Given the description of an element on the screen output the (x, y) to click on. 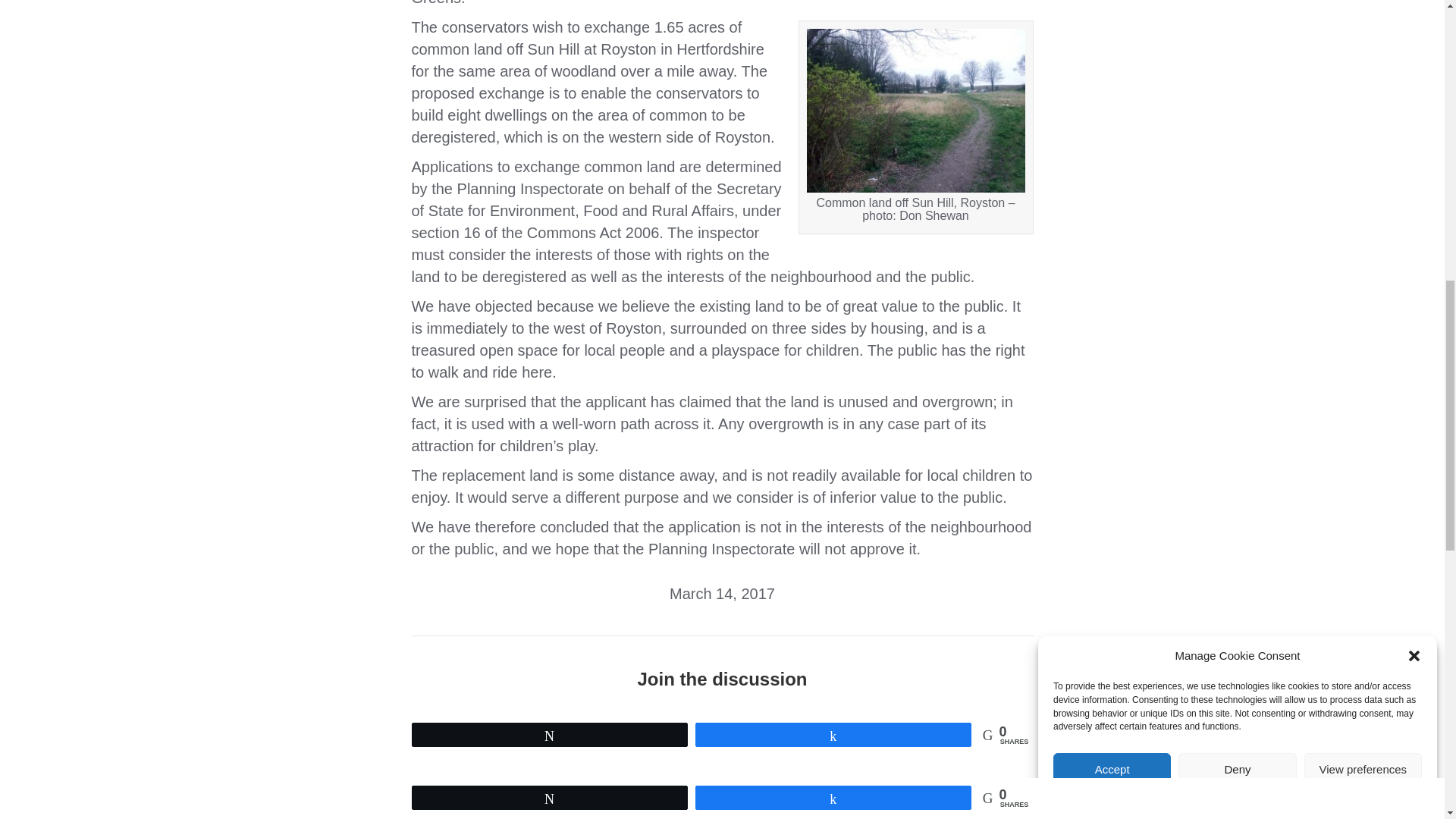
Privacy Statement (1268, 121)
Accept (1111, 238)
Deny (1236, 207)
Cookie Policy (1196, 132)
View preferences (1363, 177)
